Given the description of an element on the screen output the (x, y) to click on. 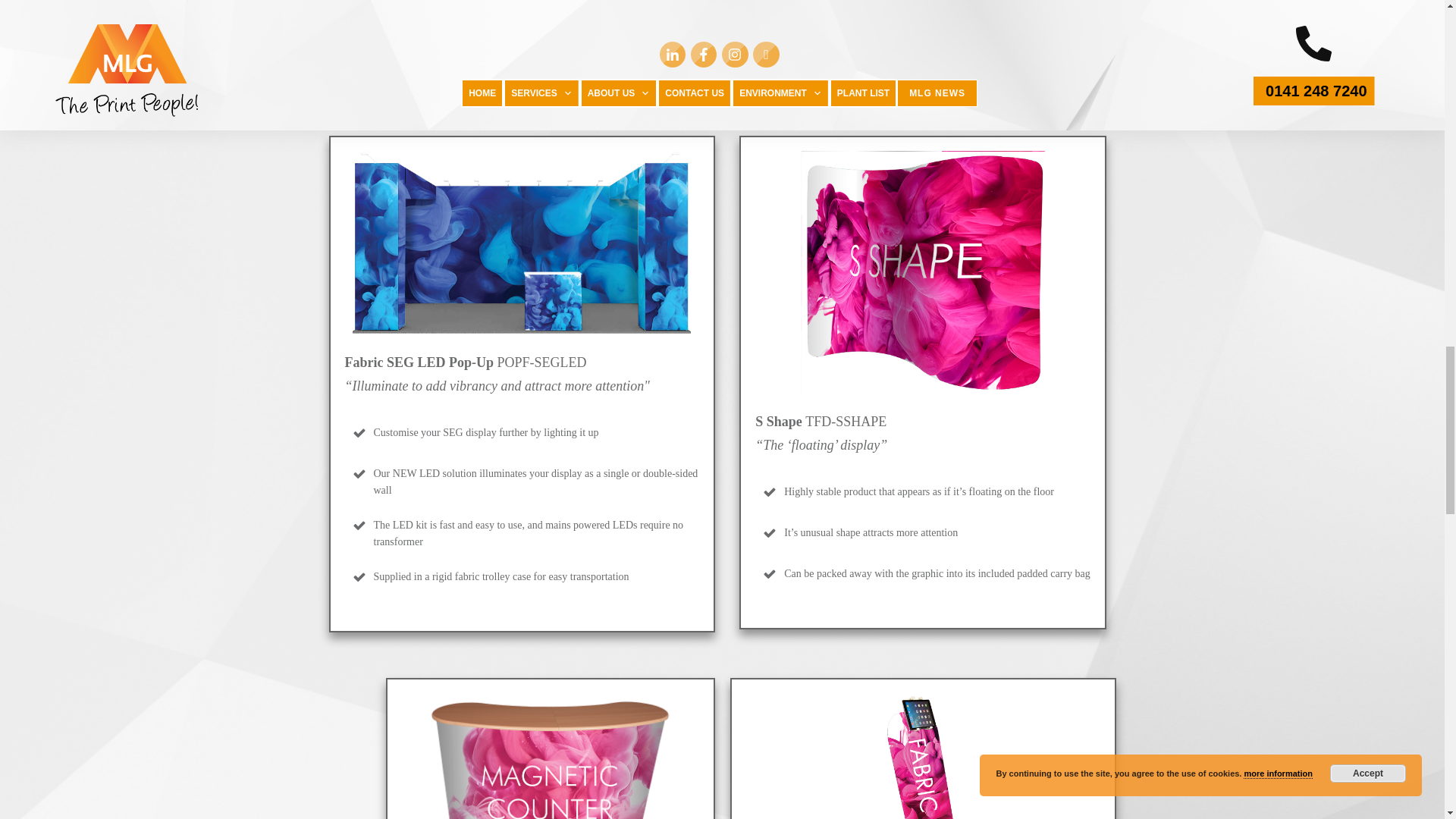
Fabric SEG popup 3x6 (521, 242)
Mocked up S shape front (922, 271)
MOCK UP Magnetic Pop-up Counter front (550, 755)
